Given the description of an element on the screen output the (x, y) to click on. 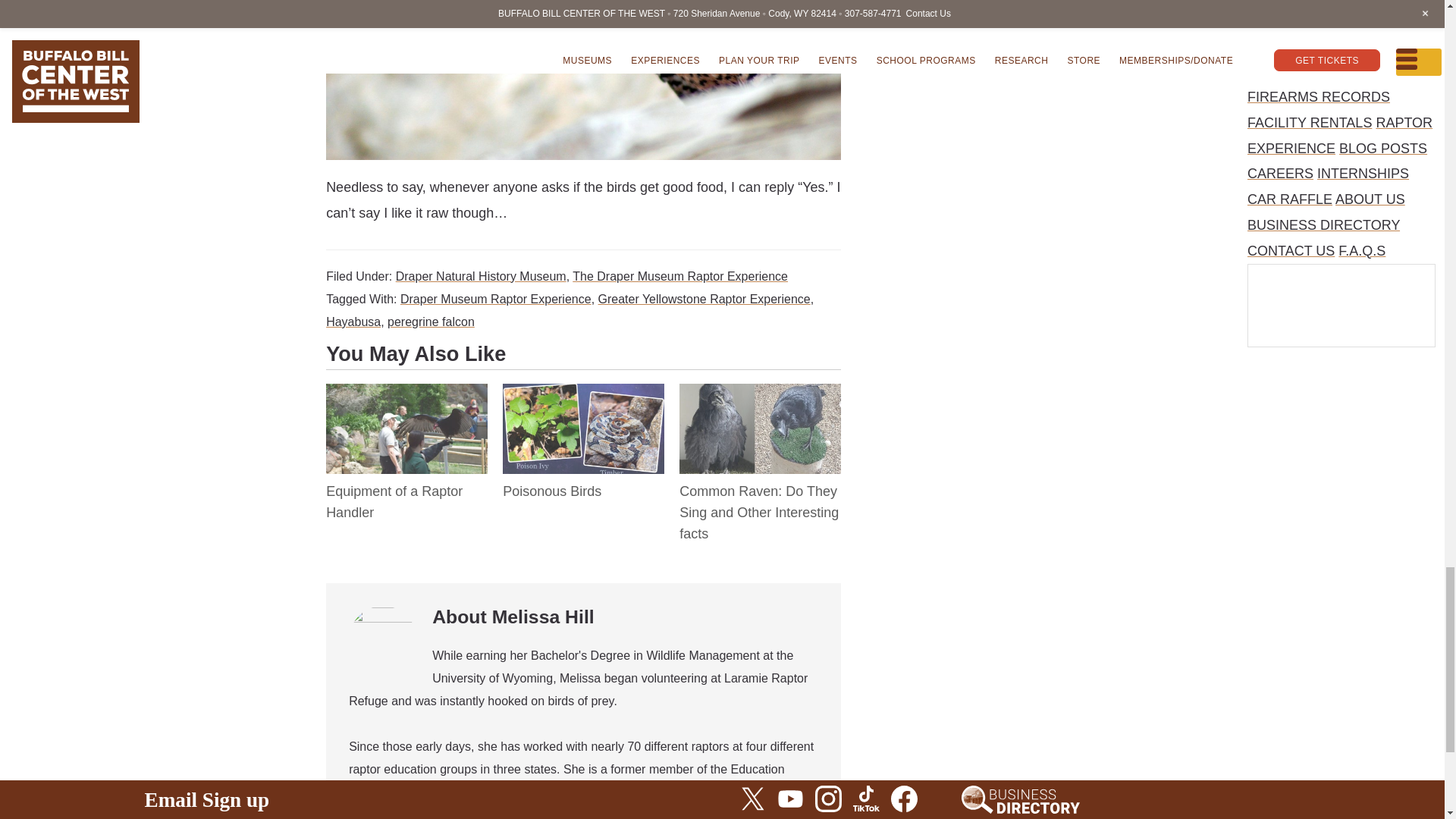
Permanent Link to Equipment of a Raptor Handler (394, 502)
Permanent Link to Poisonous Birds (551, 491)
Permanent Link to Poisonous Birds (582, 395)
Permanent Link to Equipment of a Raptor Handler (406, 395)
